Given the description of an element on the screen output the (x, y) to click on. 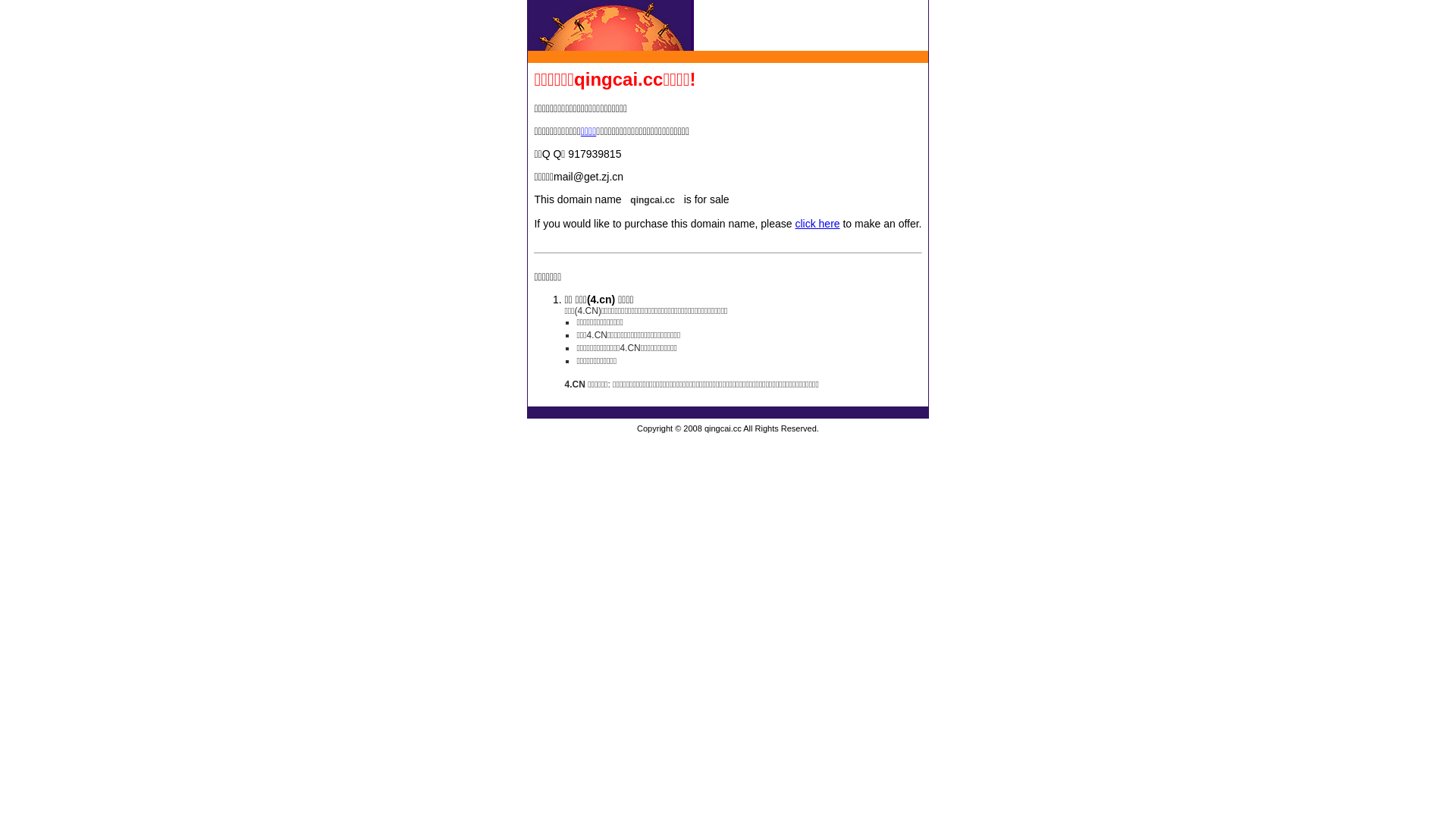
click here Element type: text (816, 223)
